Given the description of an element on the screen output the (x, y) to click on. 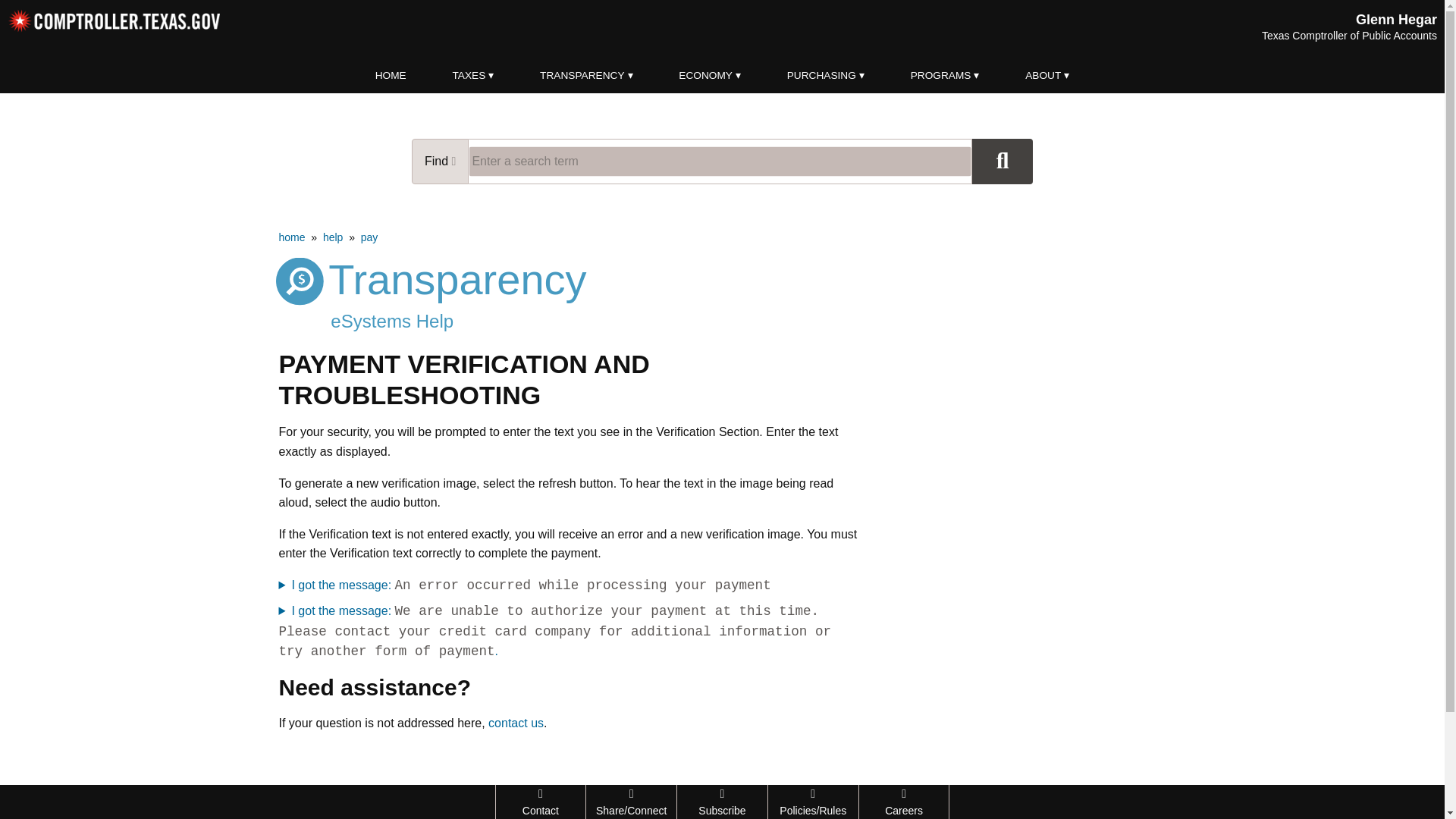
home (292, 236)
TAXES (472, 75)
HOME (390, 75)
help (332, 236)
pay (369, 236)
